Given the description of an element on the screen output the (x, y) to click on. 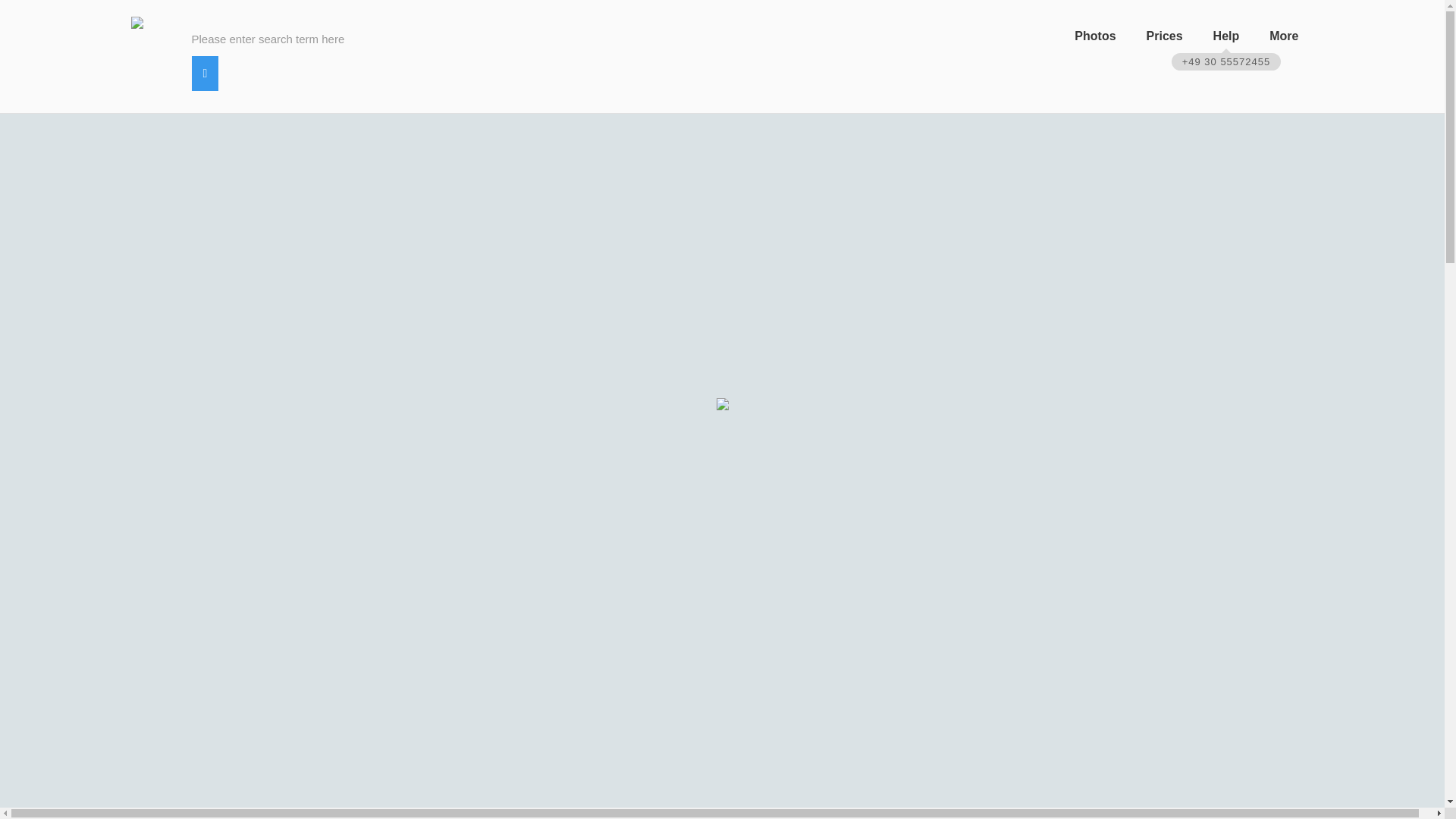
Vaccination ?! - a Royalty Free Stock Photo from Photocase (441, 188)
